Given the description of an element on the screen output the (x, y) to click on. 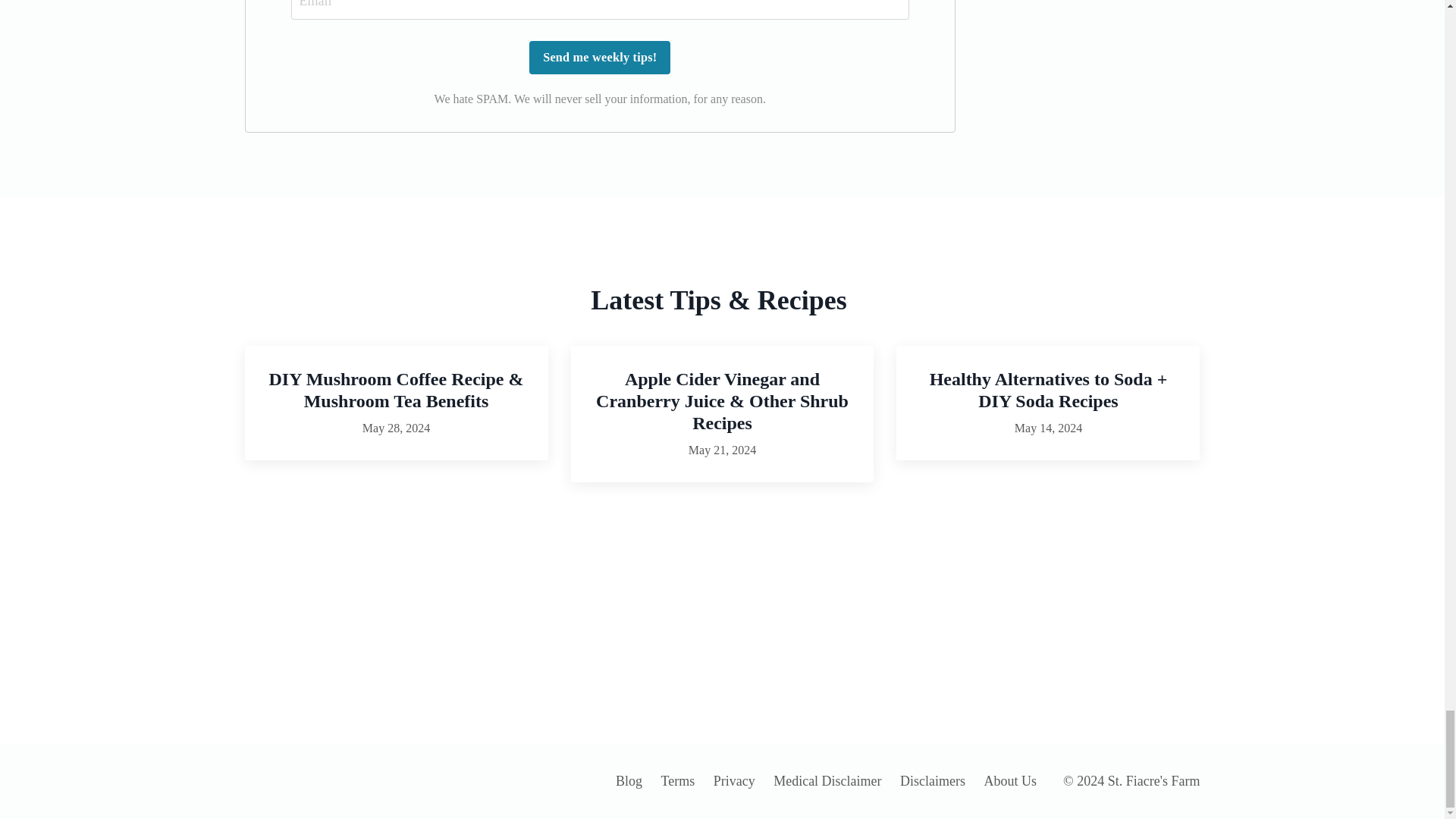
Send me weekly tips! (599, 57)
